Given the description of an element on the screen output the (x, y) to click on. 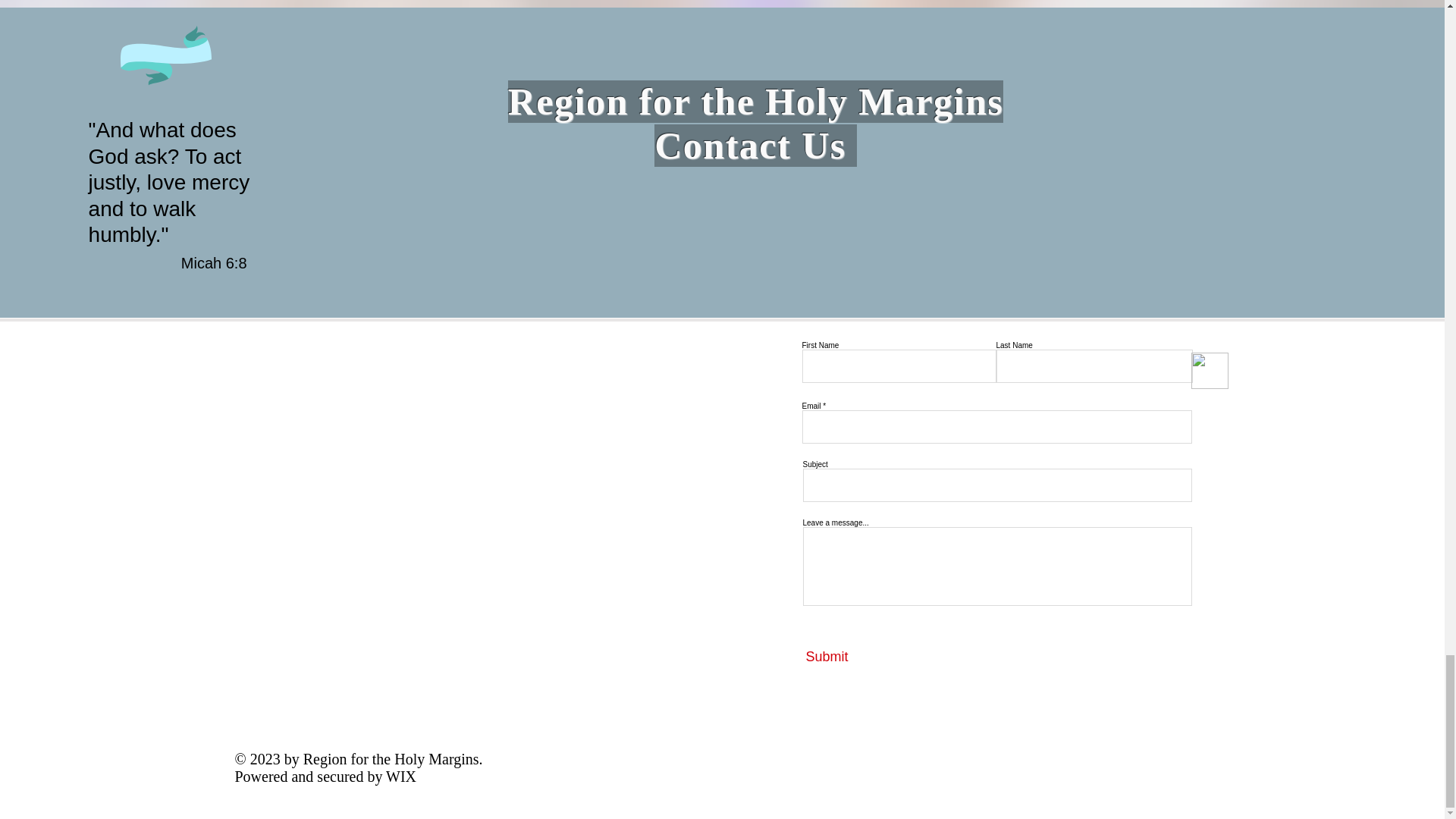
WIX (400, 776)
Submit (875, 657)
